Given the description of an element on the screen output the (x, y) to click on. 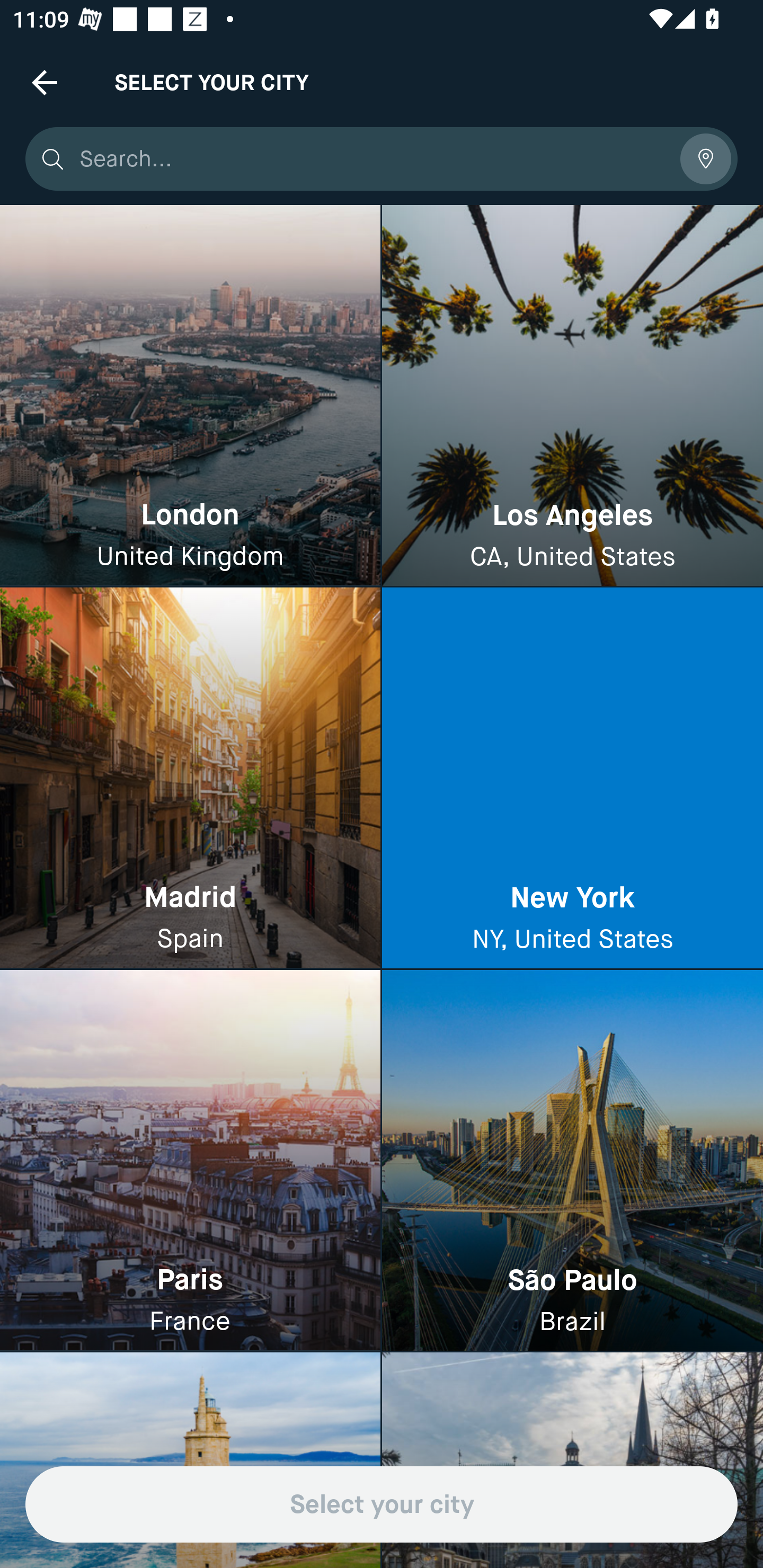
Navigate up (44, 82)
Search... (373, 159)
London United Kingdom (190, 395)
Los Angeles CA, United States (572, 395)
Madrid Spain (190, 778)
New York NY, United States (572, 778)
Paris France (190, 1160)
São Paulo Brazil (572, 1160)
Select your city (381, 1504)
